Given the description of an element on the screen output the (x, y) to click on. 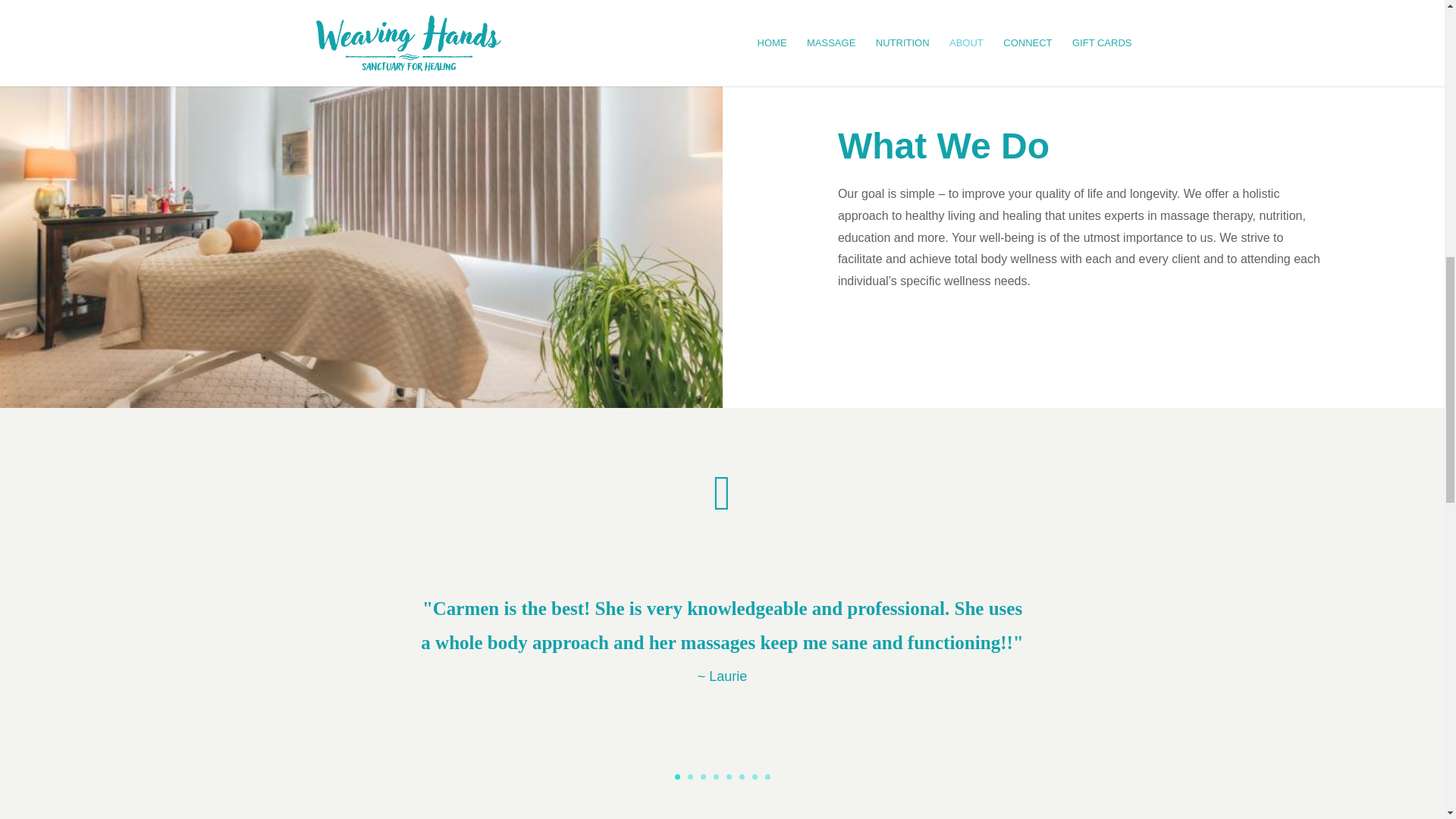
5 (729, 776)
2 (690, 776)
6 (741, 776)
3 (703, 776)
8 (767, 776)
